Given the description of an element on the screen output the (x, y) to click on. 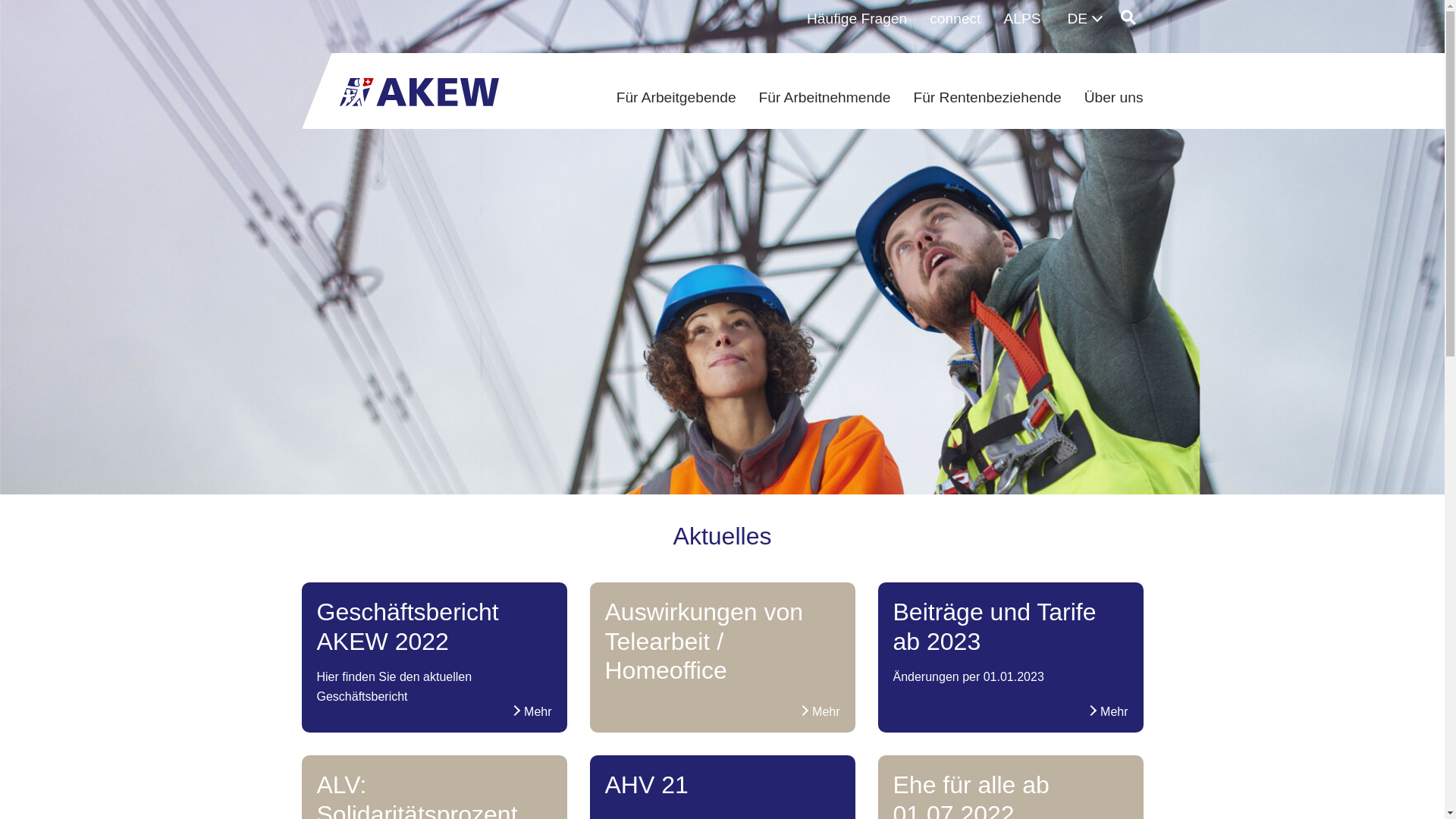
ALPS Element type: text (1021, 19)
Auswirkungen von Telearbeit / Homeoffice
Mehr Element type: text (722, 646)
Home Element type: hover (418, 87)
AHV 21
Mehr Element type: text (722, 790)
connect Element type: text (954, 19)
